Given the description of an element on the screen output the (x, y) to click on. 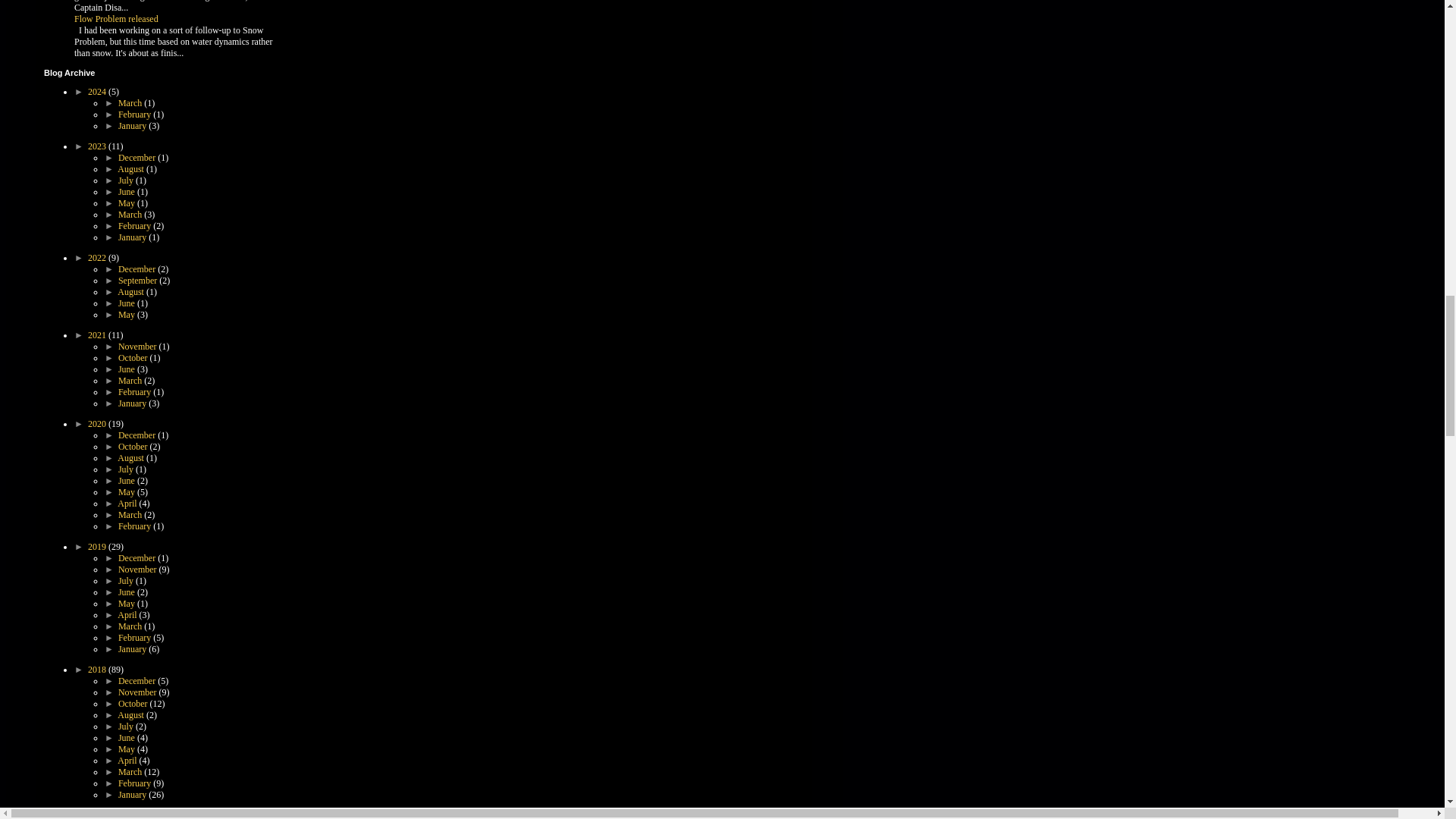
2024 (97, 91)
Flow Problem released (116, 18)
